Given the description of an element on the screen output the (x, y) to click on. 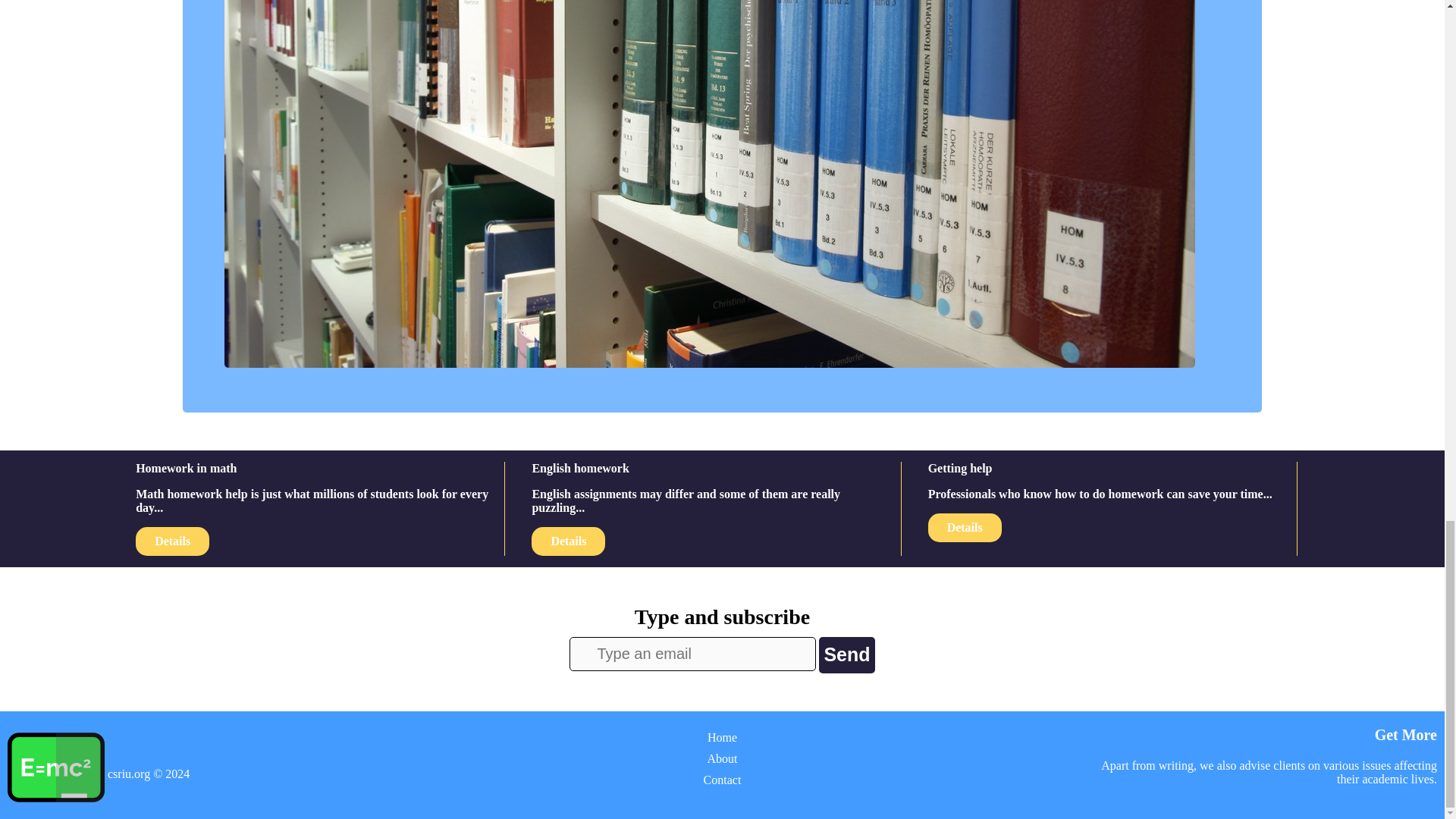
Home (721, 737)
Details (568, 541)
Details (172, 541)
Contact (722, 780)
Send (846, 655)
Details (964, 527)
About (721, 758)
